Given the description of an element on the screen output the (x, y) to click on. 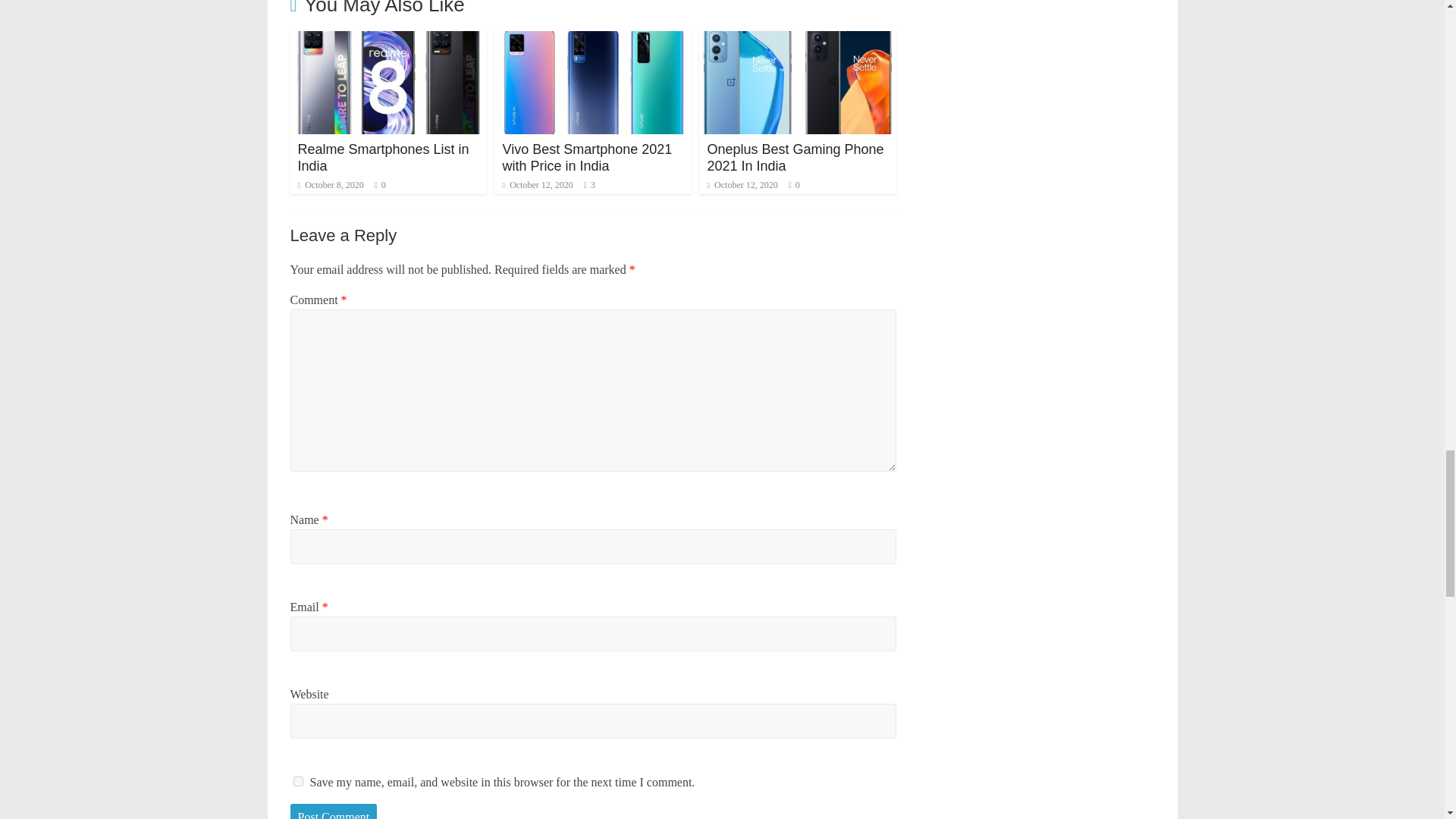
Realme Smartphones List in India (387, 40)
Realme Smartphones List in India (382, 157)
10:14 am (329, 184)
Post Comment (333, 811)
yes (297, 781)
Vivo Best Smartphone 2021 with Price in India (586, 157)
Vivo Best Smartphone 2021 with Price in India (593, 40)
